Given the description of an element on the screen output the (x, y) to click on. 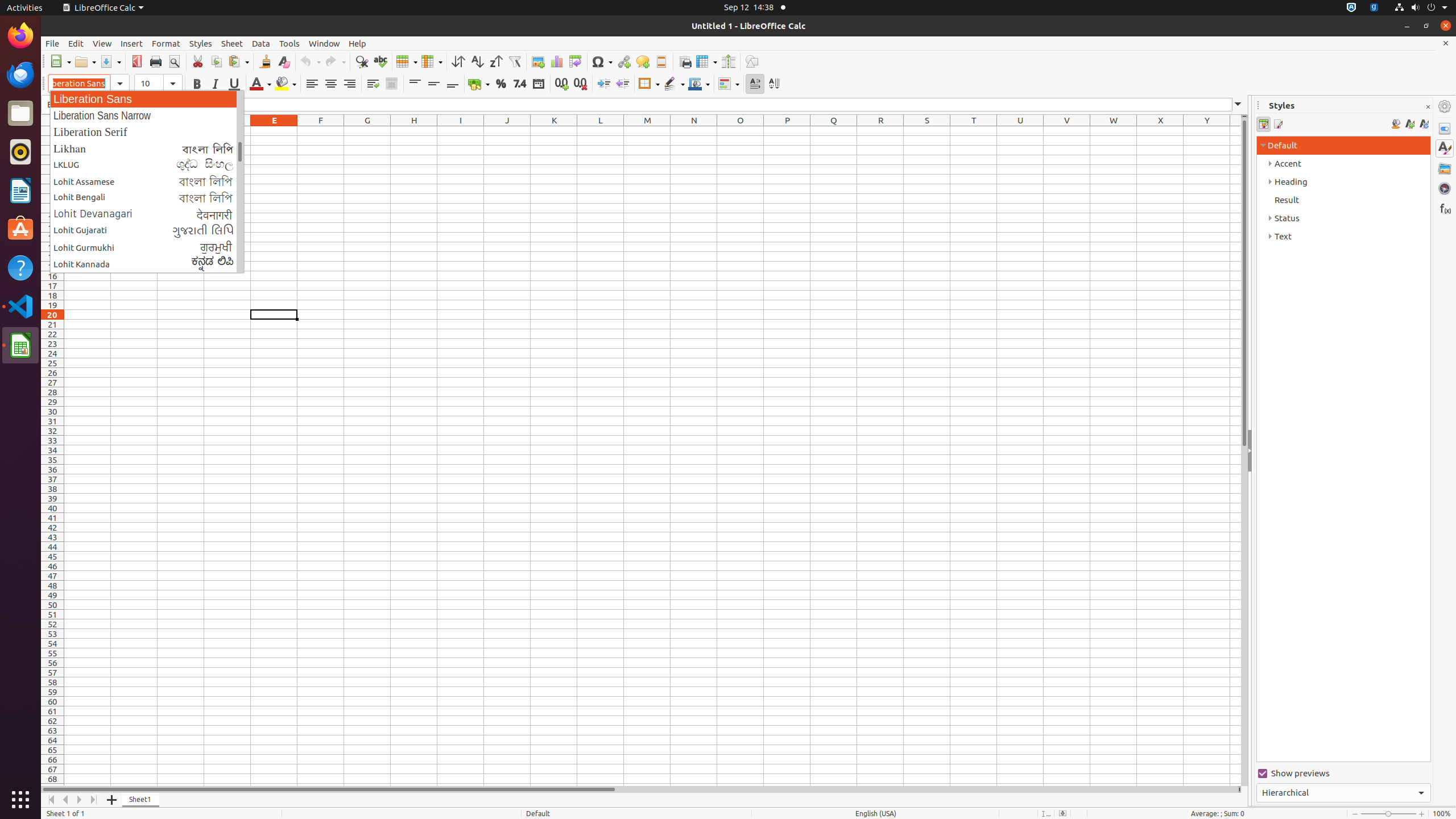
Horizontal scroll bar Element type: scroll-bar (639, 789)
Q1 Element type: table-cell (833, 130)
Currency Element type: push-button (478, 83)
System Element type: menu (1420, 7)
